Given the description of an element on the screen output the (x, y) to click on. 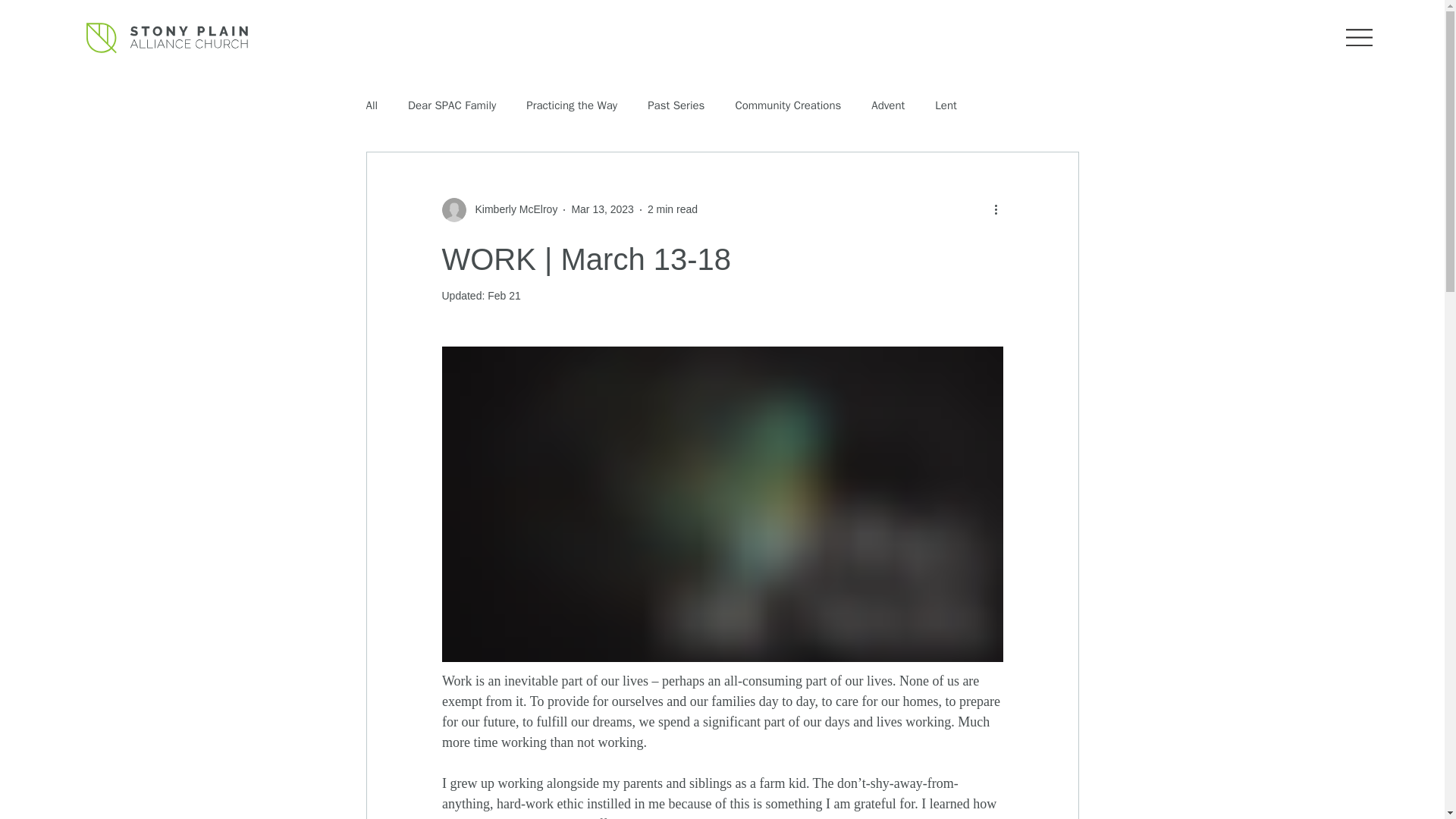
Community Creations (788, 105)
2 min read (672, 209)
Feb 21 (504, 295)
Advent (887, 105)
Practicing the Way (571, 105)
Kimberly McElroy (511, 209)
Lent (945, 105)
Mar 13, 2023 (601, 209)
Dear SPAC Family (451, 105)
Past Series (675, 105)
